Given the description of an element on the screen output the (x, y) to click on. 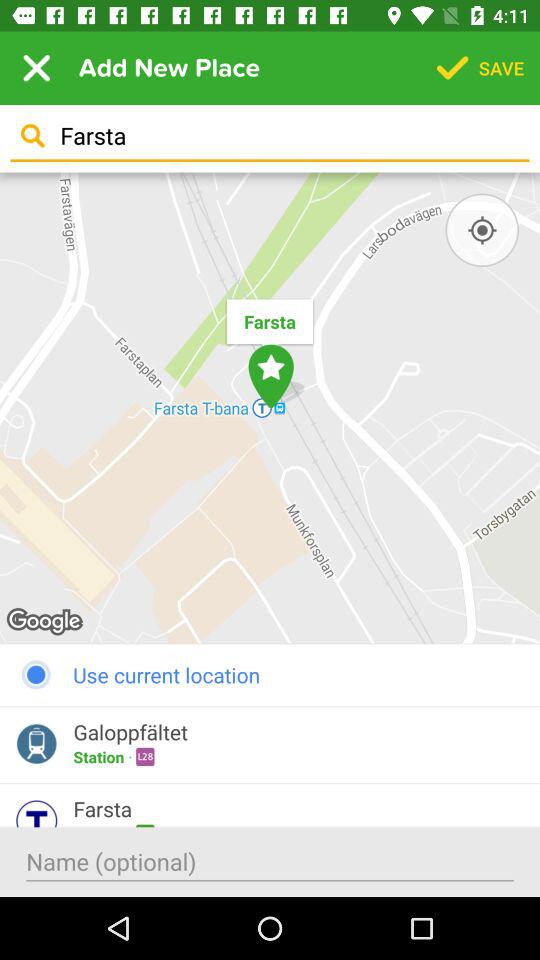
press item to the left of add new place icon (36, 68)
